Given the description of an element on the screen output the (x, y) to click on. 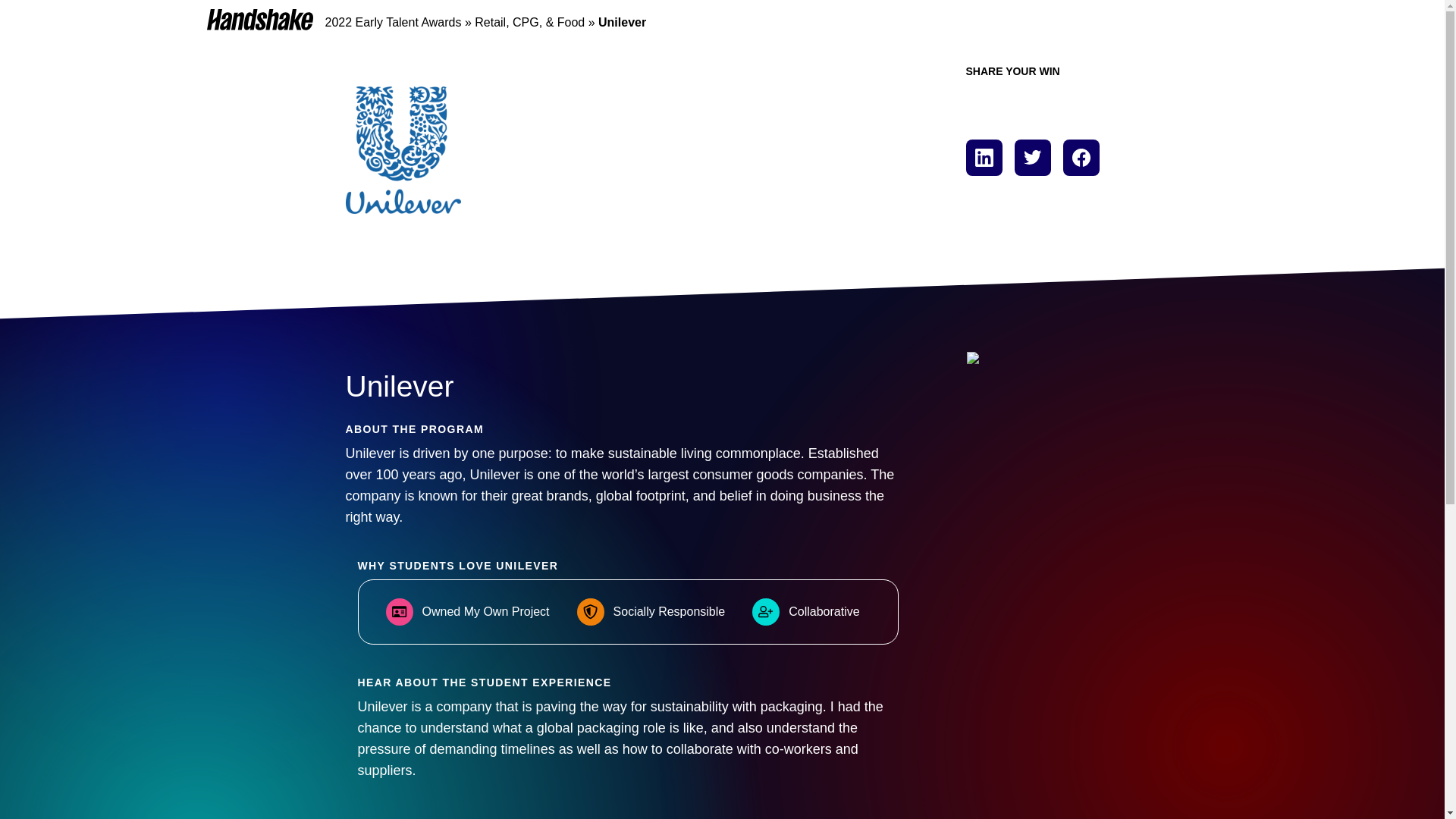
2022 Early Talent Awards (392, 21)
Homepage (259, 19)
